Given the description of an element on the screen output the (x, y) to click on. 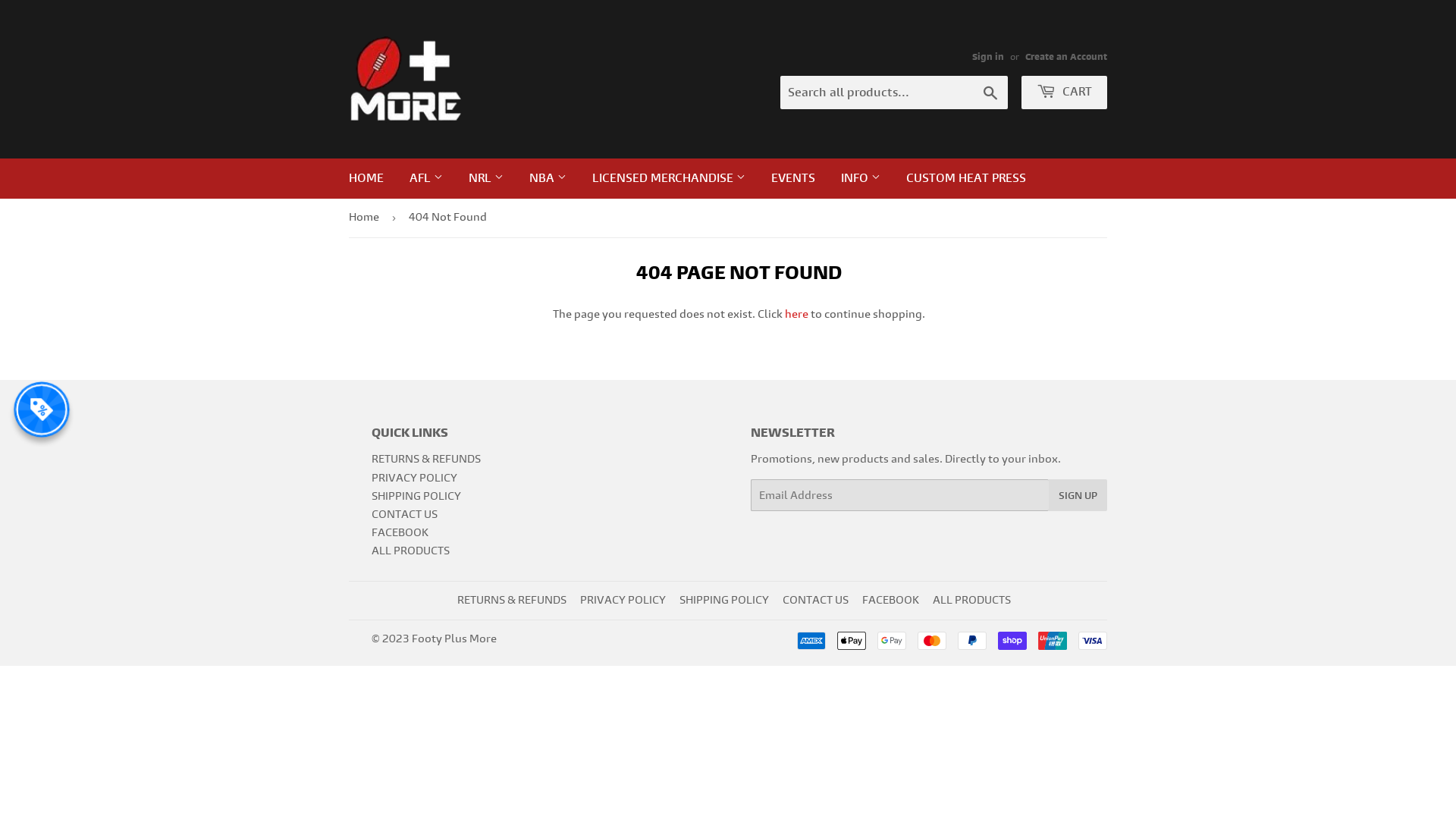
Footy Plus More Element type: text (453, 638)
SIGN UP Element type: text (1077, 495)
CONTACT US Element type: text (815, 599)
ALL PRODUCTS Element type: text (971, 599)
NRL Element type: text (485, 177)
NBA Element type: text (547, 177)
PRIVACY POLICY Element type: text (414, 477)
HOME Element type: text (366, 177)
SHIPPING POLICY Element type: text (723, 599)
CONTACT US Element type: text (404, 514)
CART Element type: text (1064, 92)
INFO Element type: text (860, 177)
RETURNS & REFUNDS Element type: text (425, 458)
here Element type: text (796, 313)
FACEBOOK Element type: text (399, 532)
Sign in Element type: text (988, 56)
LICENSED MERCHANDISE Element type: text (668, 177)
AFL Element type: text (426, 177)
ALL PRODUCTS Element type: text (410, 550)
Home Element type: text (366, 217)
FACEBOOK Element type: text (889, 599)
PRIVACY POLICY Element type: text (622, 599)
Create an Account Element type: text (1066, 56)
Search Element type: text (990, 93)
EVENTS Element type: text (792, 177)
CUSTOM HEAT PRESS Element type: text (965, 177)
SHIPPING POLICY Element type: text (416, 495)
RETURNS & REFUNDS Element type: text (510, 599)
